Given the description of an element on the screen output the (x, y) to click on. 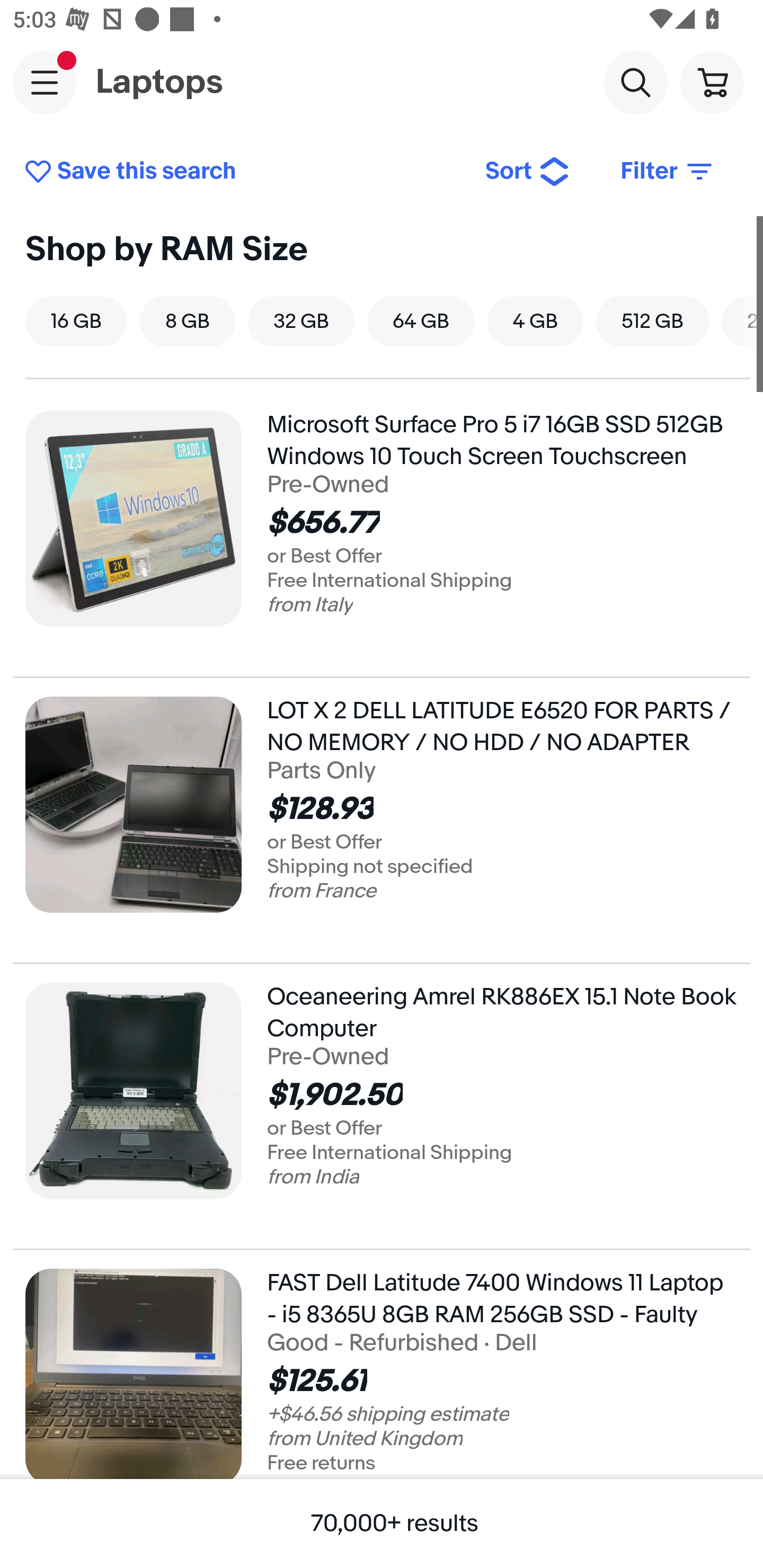
Main navigation, notification is pending, open (44, 82)
Search (635, 81)
Cart button shopping cart (711, 81)
Save this search (241, 171)
Sort (527, 171)
Filter (667, 171)
16 GB 16 GB, RAM Size (76, 321)
8 GB 8 GB, RAM Size (187, 321)
32 GB 32 GB, RAM Size (300, 321)
64 GB 64 GB, RAM Size (420, 321)
4 GB 4 GB, RAM Size (535, 321)
512 GB 512 GB, RAM Size (651, 321)
